Given the description of an element on the screen output the (x, y) to click on. 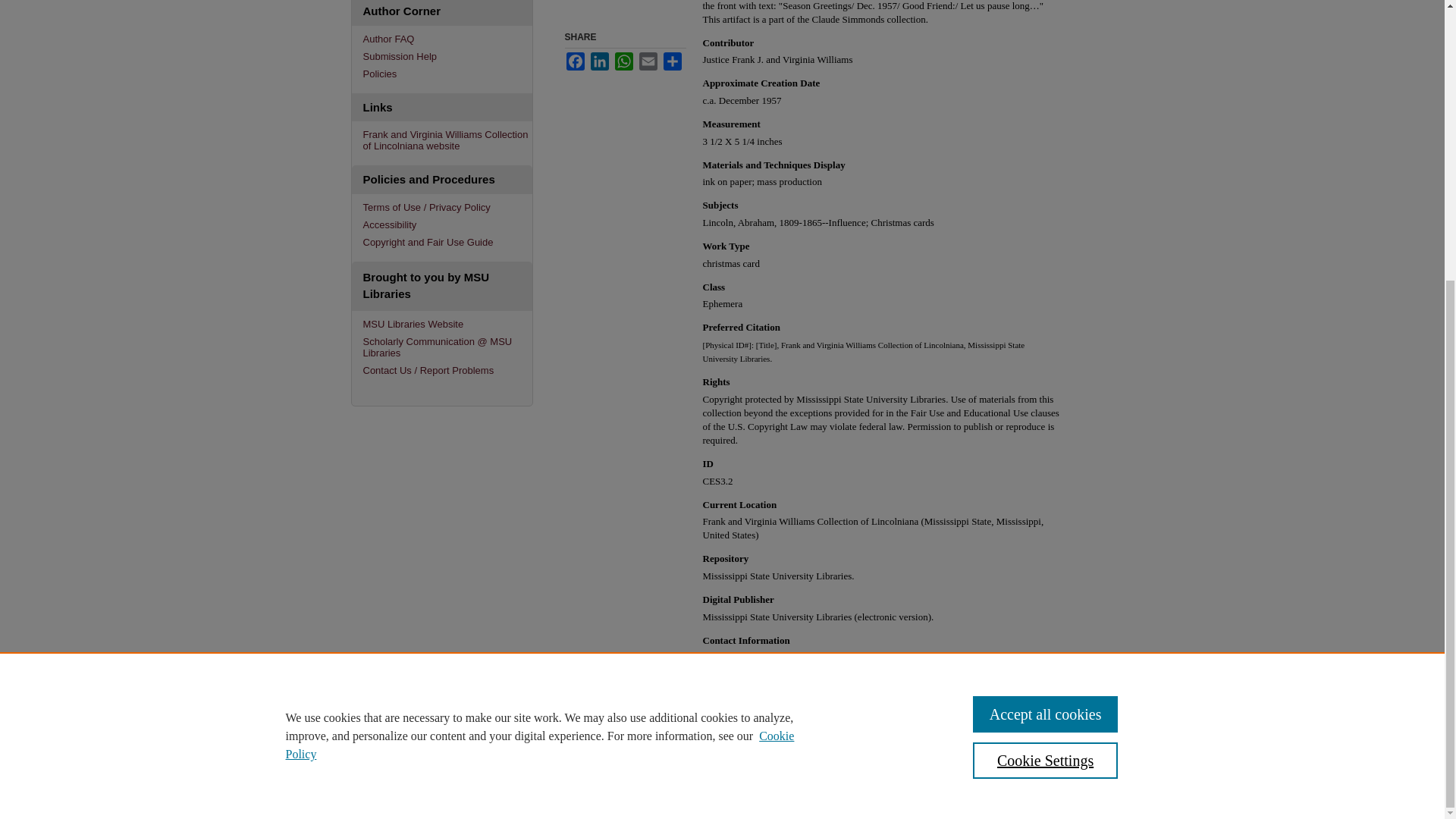
LinkedIn (599, 61)
Author FAQ (447, 39)
Share (671, 61)
Accessibility (447, 224)
Author FAQ (447, 39)
Email (647, 61)
Copyright and Fair Use Guide (447, 242)
WhatsApp (622, 61)
Facebook (574, 61)
Policies (447, 73)
Submission Help (447, 56)
